Given the description of an element on the screen output the (x, y) to click on. 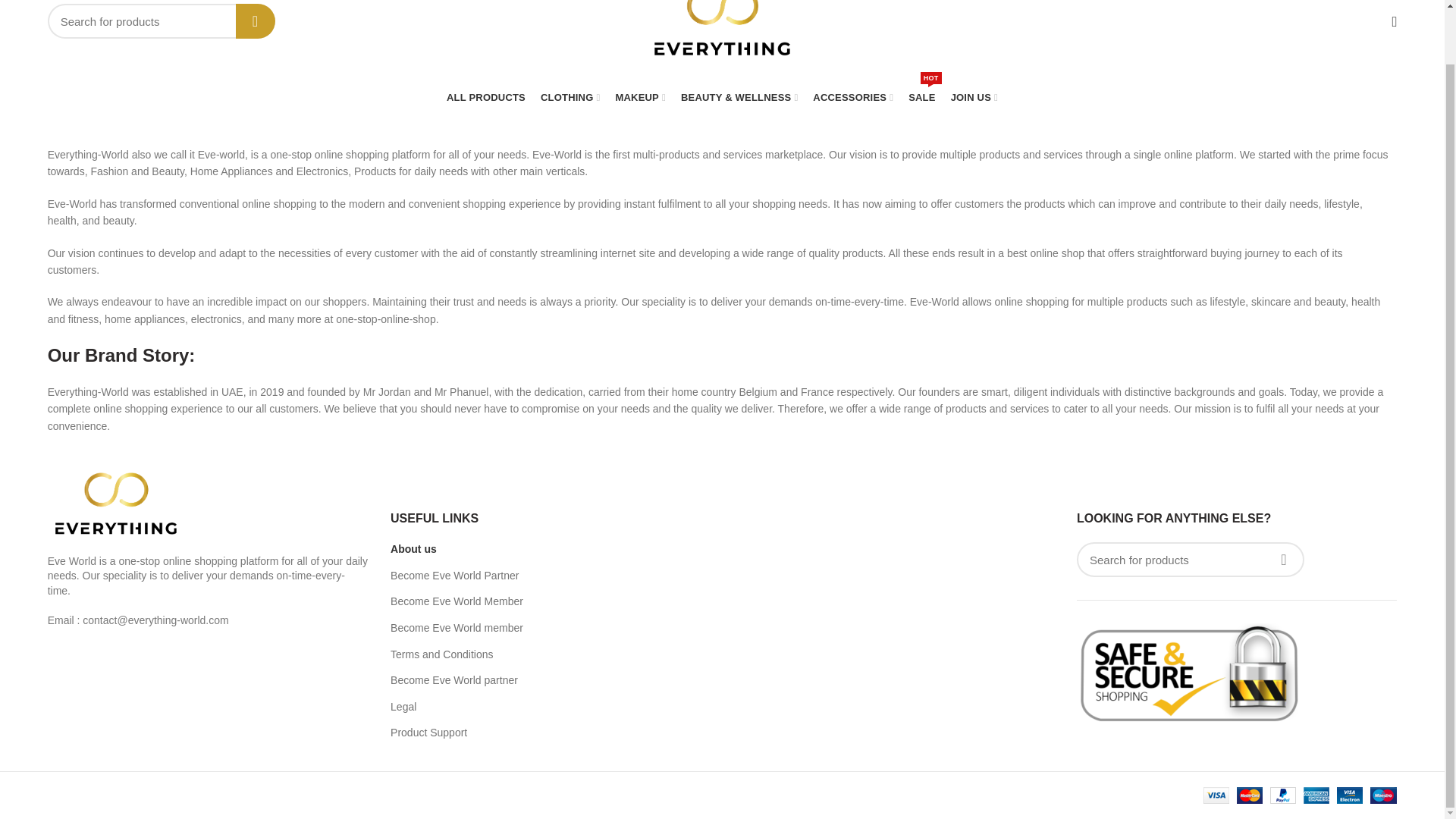
SEARCH (255, 21)
ALL PRODUCTS (485, 96)
CLOTHING (569, 96)
Log in (1271, 246)
